Given the description of an element on the screen output the (x, y) to click on. 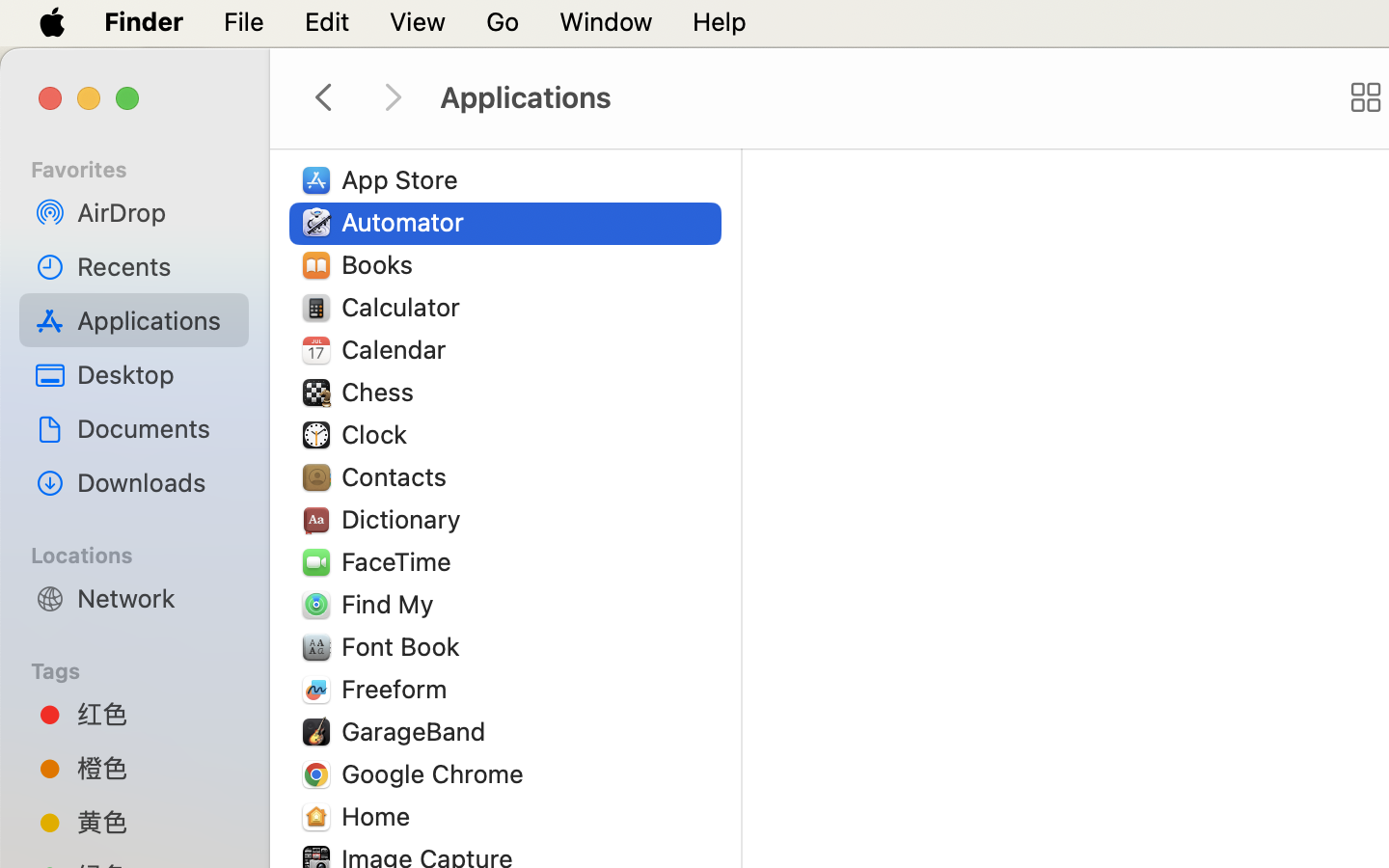
AirDrop Element type: AXStaticText (155, 211)
Downloads Element type: AXStaticText (155, 481)
Calculator Element type: AXTextField (404, 306)
橙色 Element type: AXStaticText (155, 767)
Recents Element type: AXStaticText (155, 265)
